Given the description of an element on the screen output the (x, y) to click on. 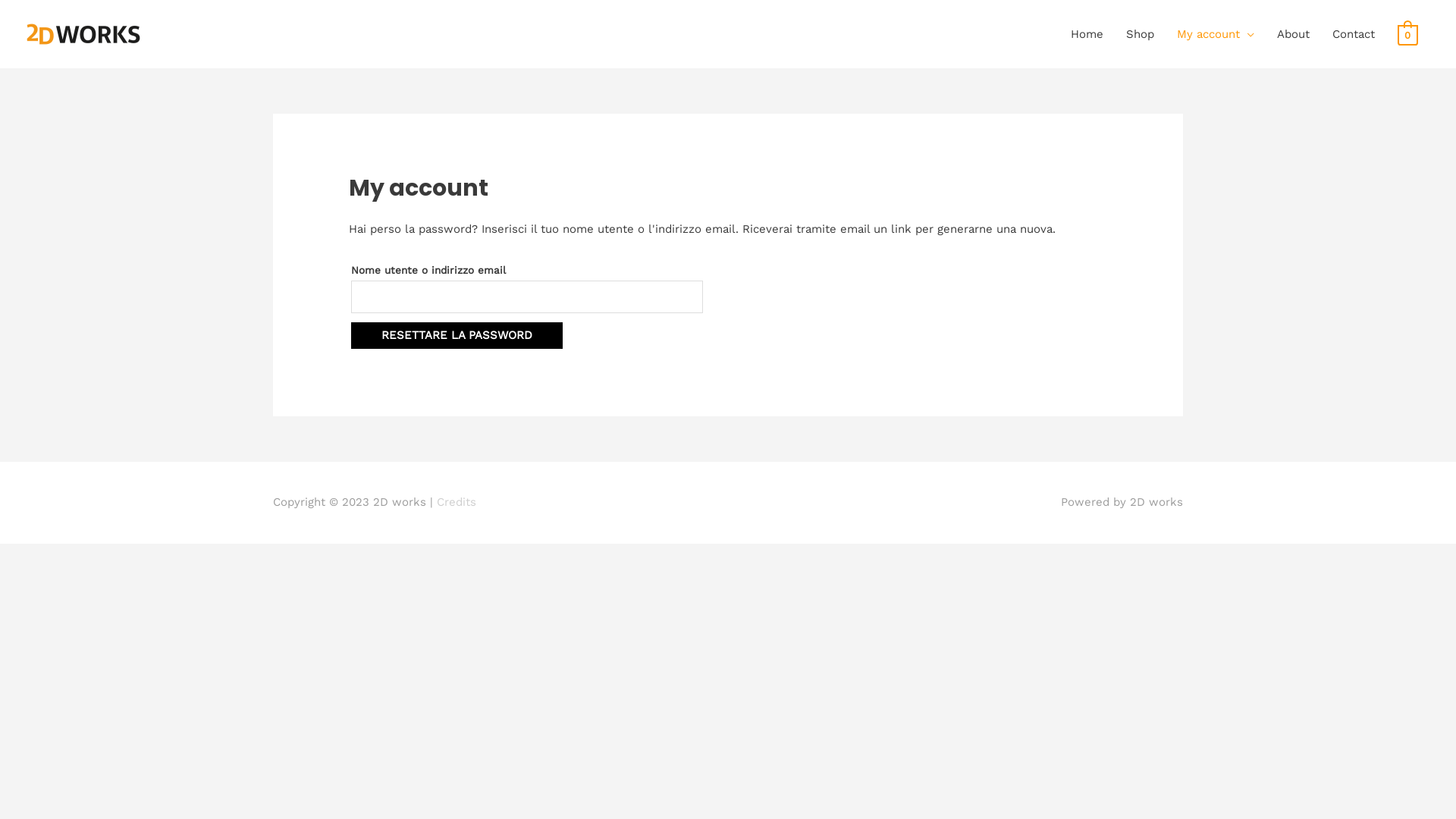
Contact Element type: text (1353, 33)
Home Element type: text (1086, 33)
0 Element type: text (1407, 33)
About Element type: text (1293, 33)
RESETTARE LA PASSWORD Element type: text (456, 335)
Credits Element type: text (456, 501)
My account Element type: text (1215, 33)
Shop Element type: text (1139, 33)
